Given the description of an element on the screen output the (x, y) to click on. 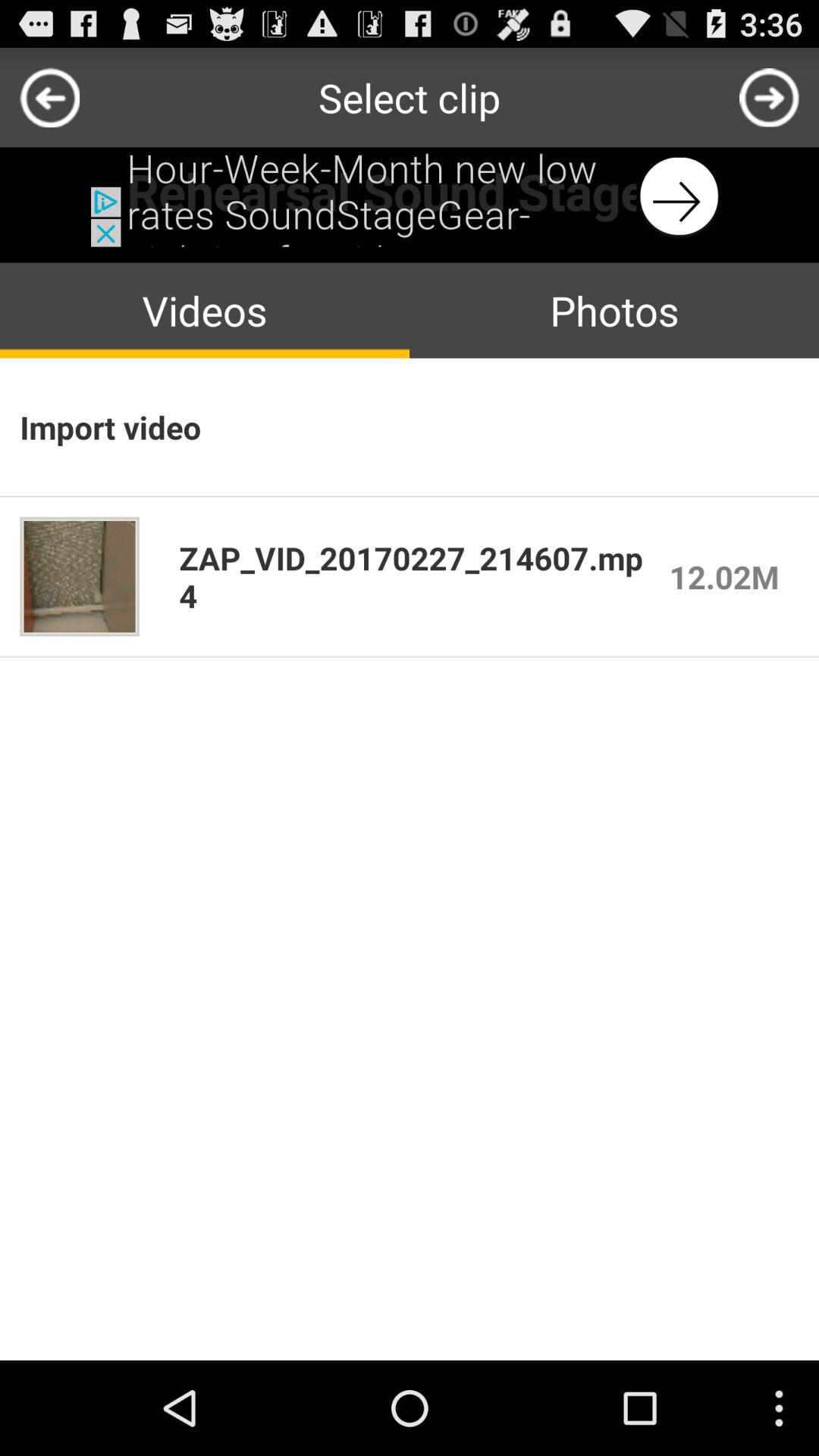
advertisement box (409, 196)
